Given the description of an element on the screen output the (x, y) to click on. 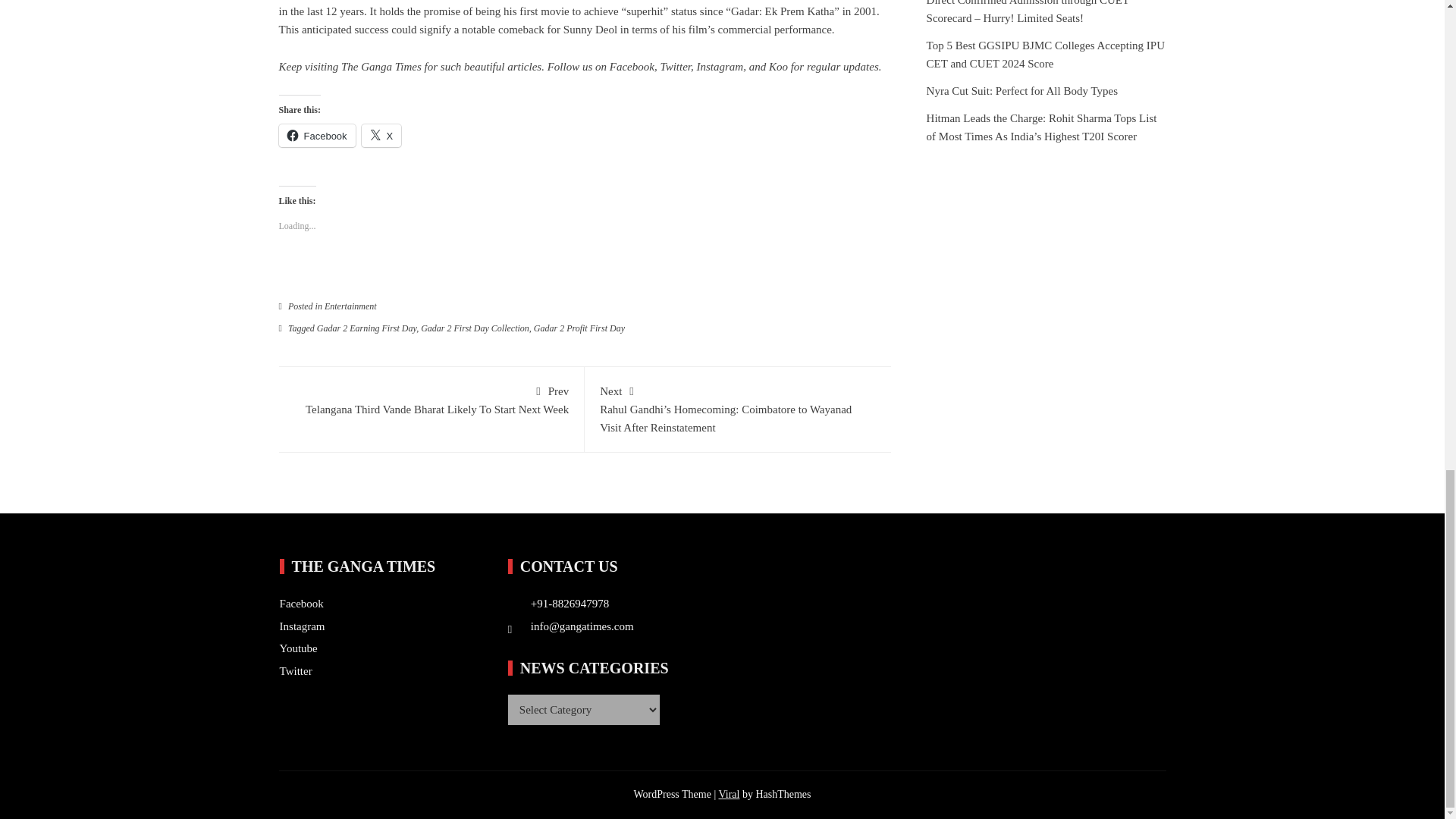
Download Viral (728, 794)
Gadar 2 First Day Collection (474, 327)
Entertainment (350, 306)
Facebook (431, 398)
Koo (631, 66)
Gadar 2 Profit First Day (777, 66)
X (579, 327)
Gadar 2 Earning First Day (381, 135)
Click to share on X (366, 327)
